Given the description of an element on the screen output the (x, y) to click on. 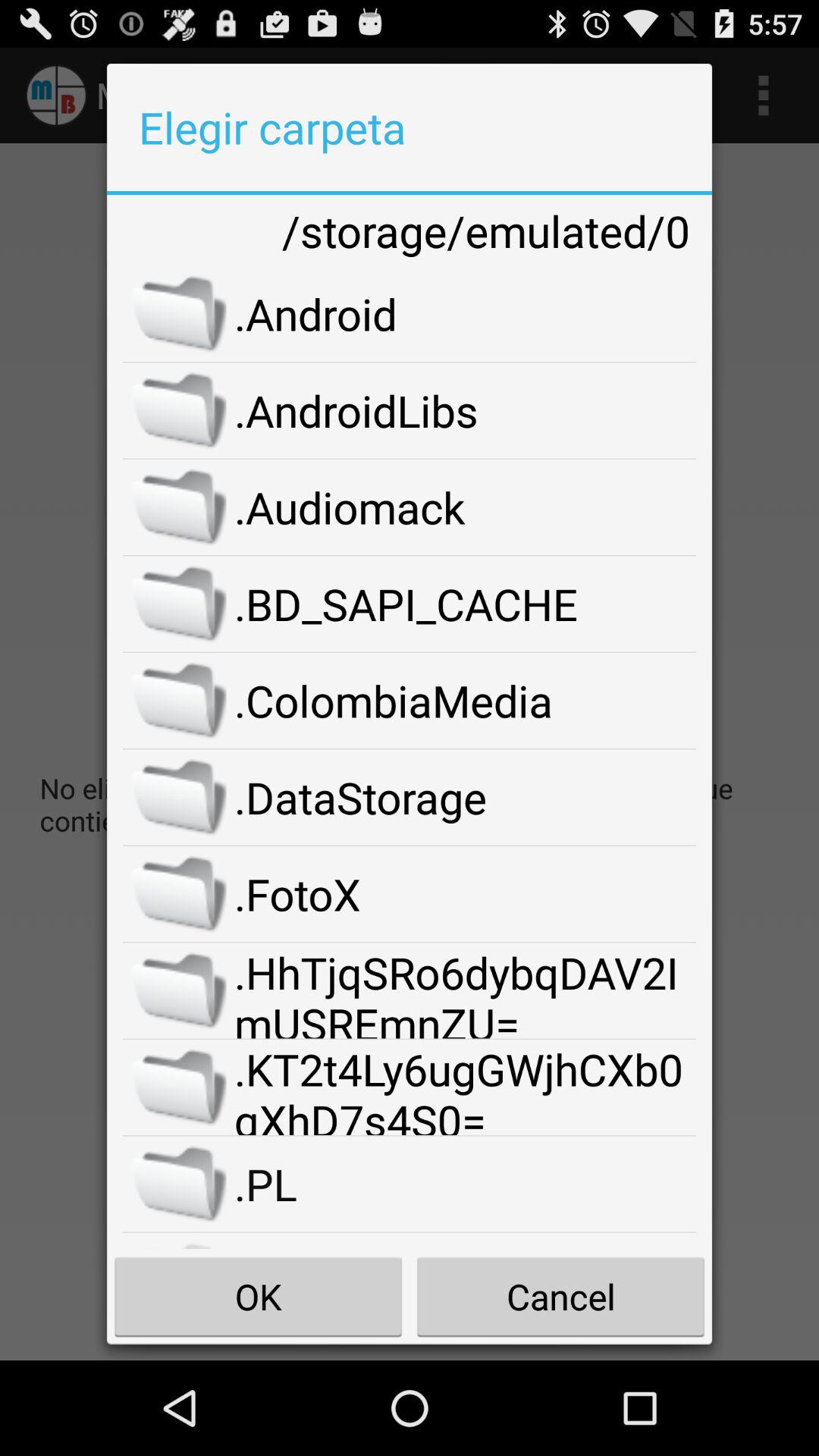
select .androidlibs icon (465, 410)
